Given the description of an element on the screen output the (x, y) to click on. 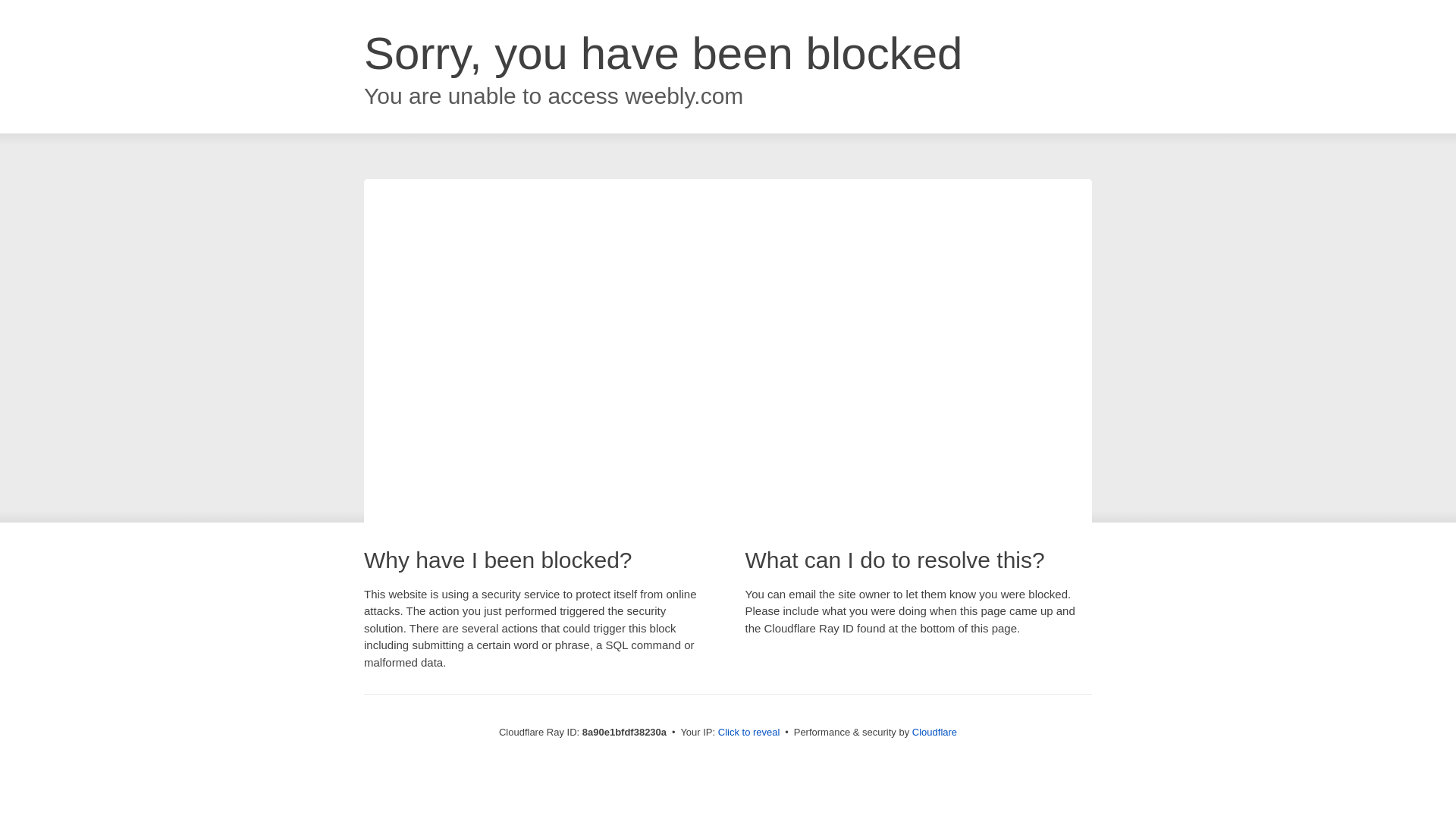
Cloudflare (934, 731)
Click to reveal (748, 732)
